Given the description of an element on the screen output the (x, y) to click on. 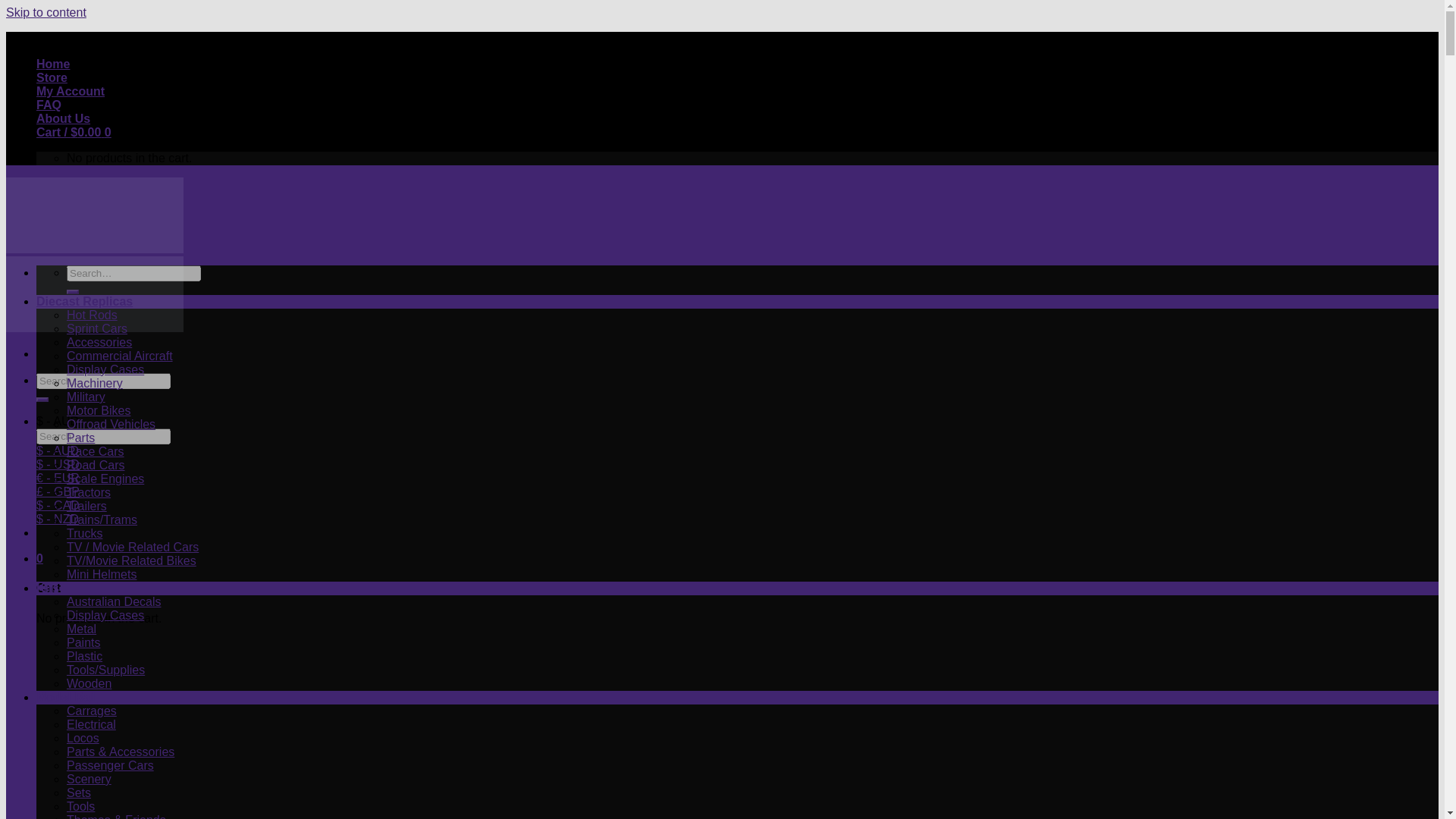
Tractors (88, 492)
Hot Rods (91, 314)
Trucks (83, 533)
About Us (63, 118)
Scale Engines (105, 478)
Trailers (86, 505)
Machinery (94, 382)
Display Cases (105, 369)
Sprint Cars (97, 328)
Store (51, 77)
